Given the description of an element on the screen output the (x, y) to click on. 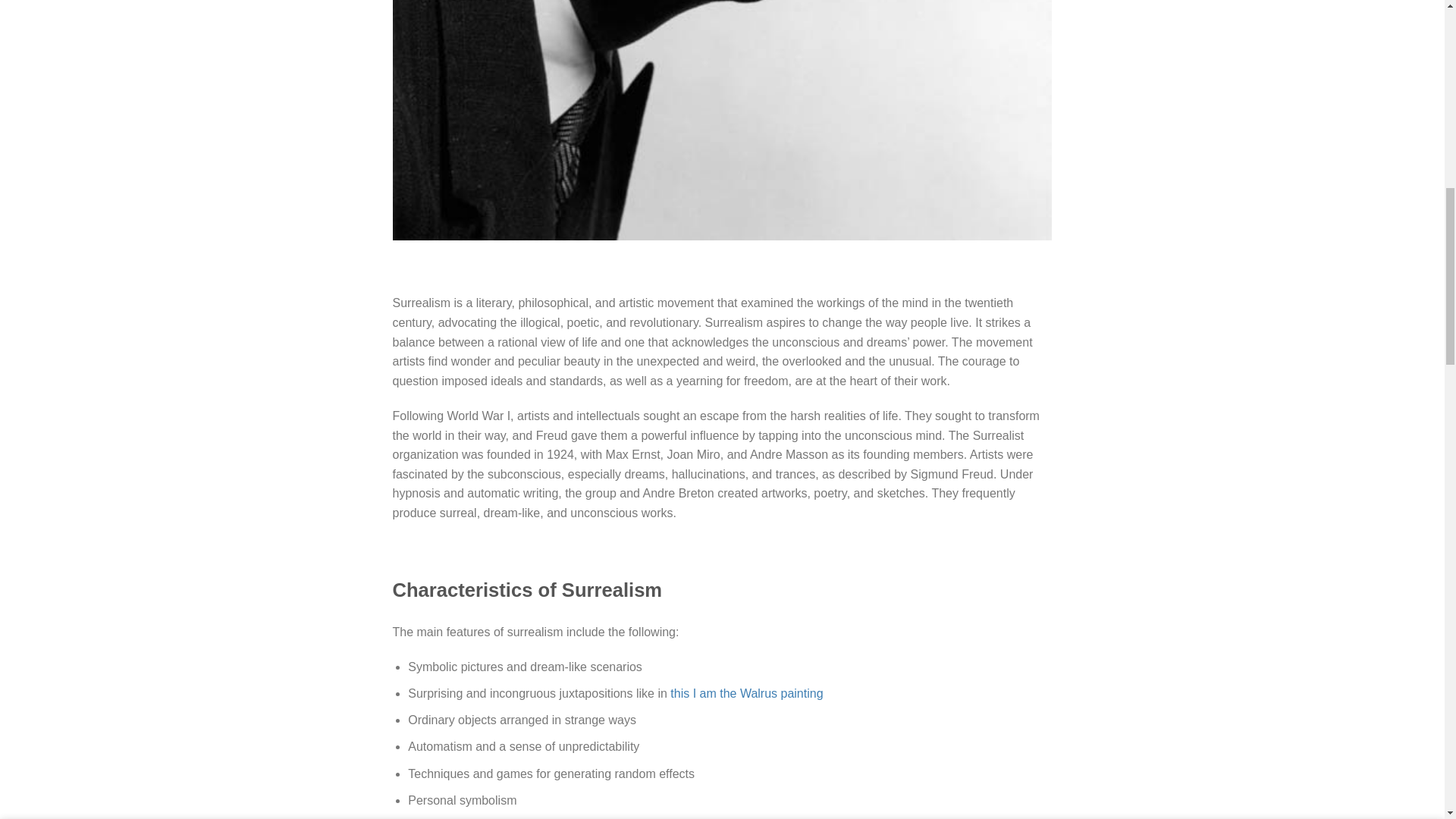
this I am the Walrus painting (745, 693)
